Given the description of an element on the screen output the (x, y) to click on. 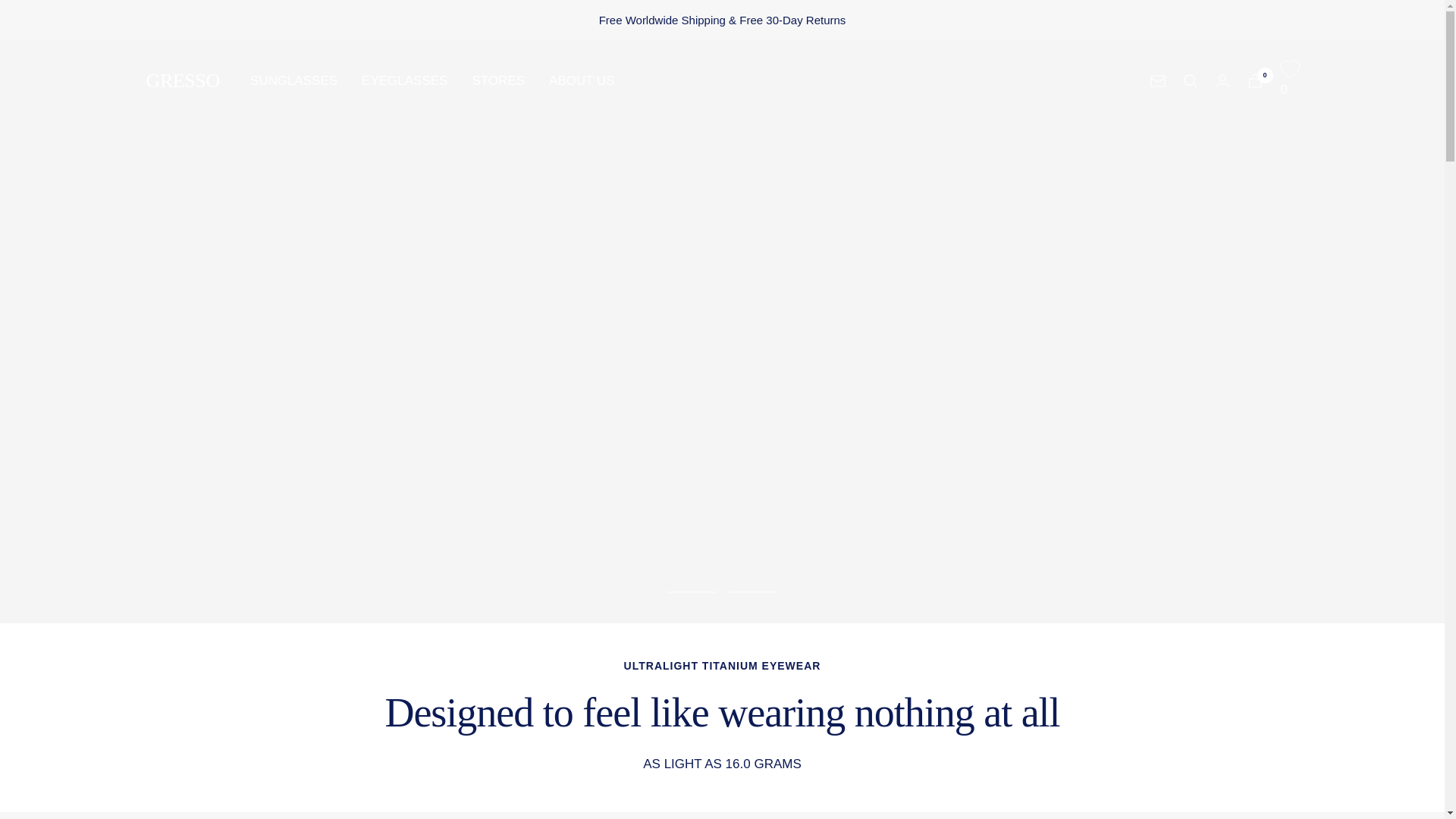
SUNGLASSES (293, 80)
EYEGLASSES (403, 80)
STORES (497, 80)
ABOUT US (581, 80)
GRESSO (182, 80)
0 (1254, 80)
Newsletter (1157, 80)
